Given the description of an element on the screen output the (x, y) to click on. 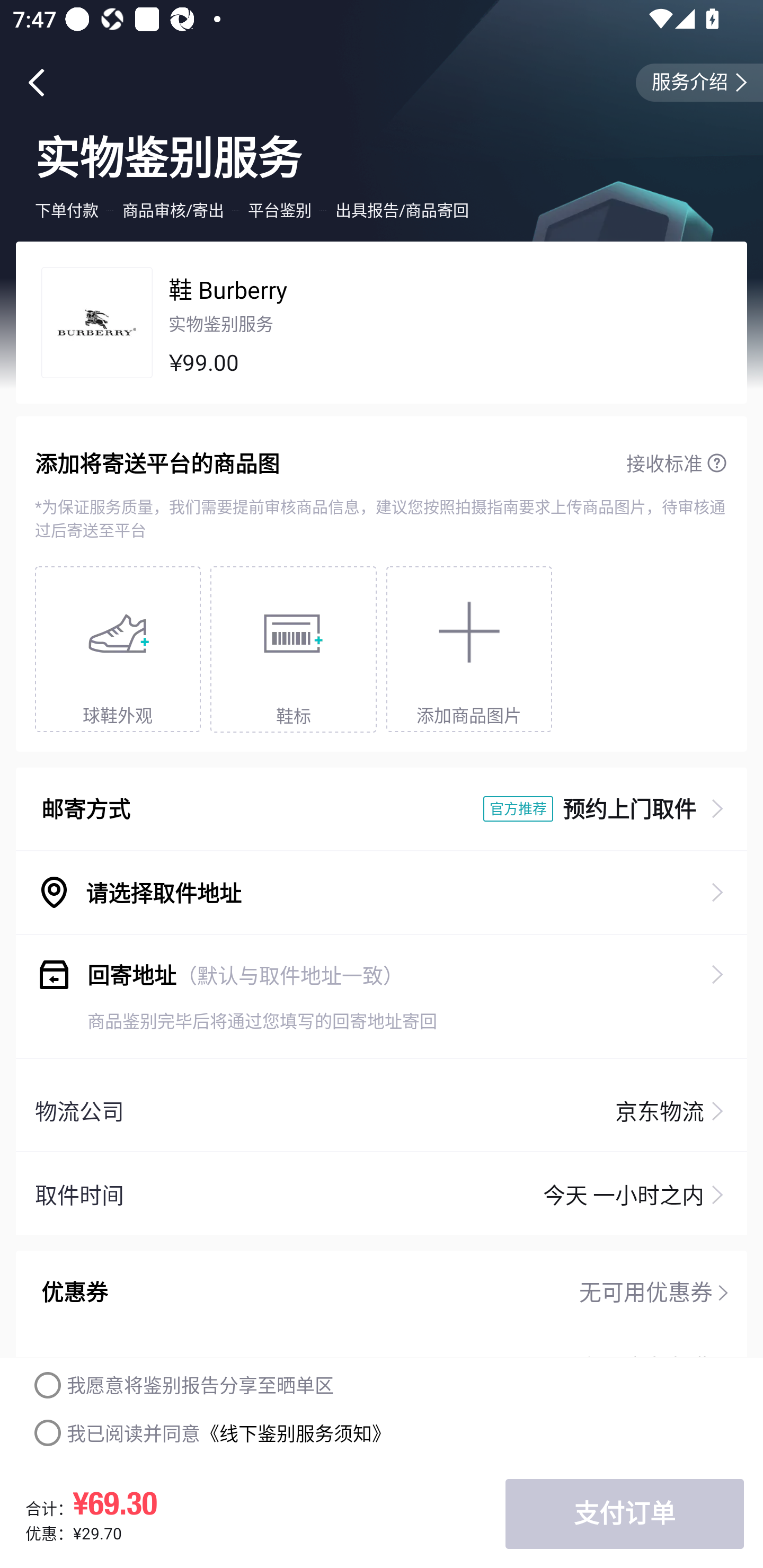
Navigate up (36, 82)
服务介绍 (699, 82)
接收标准 (676, 463)
球鞋外观 (117, 649)
鞋标 (293, 649)
添加商品图片 (469, 649)
邮寄方式 官方推荐 预约上门取件 (381, 808)
取件地址 请选择取件地址 (381, 892)
回寄地址 回寄地址 （默认与取件地址一致） 商品鉴别完毕后将通过您填写的回寄地址寄回 (381, 996)
物流公司 京东物流 (381, 1110)
取件时间 今天 一小时之内 (381, 1195)
优惠券 无可用优惠券 (381, 1291)
《线下鉴别服务须知》 (294, 1432)
支付订单 (624, 1513)
